Given the description of an element on the screen output the (x, y) to click on. 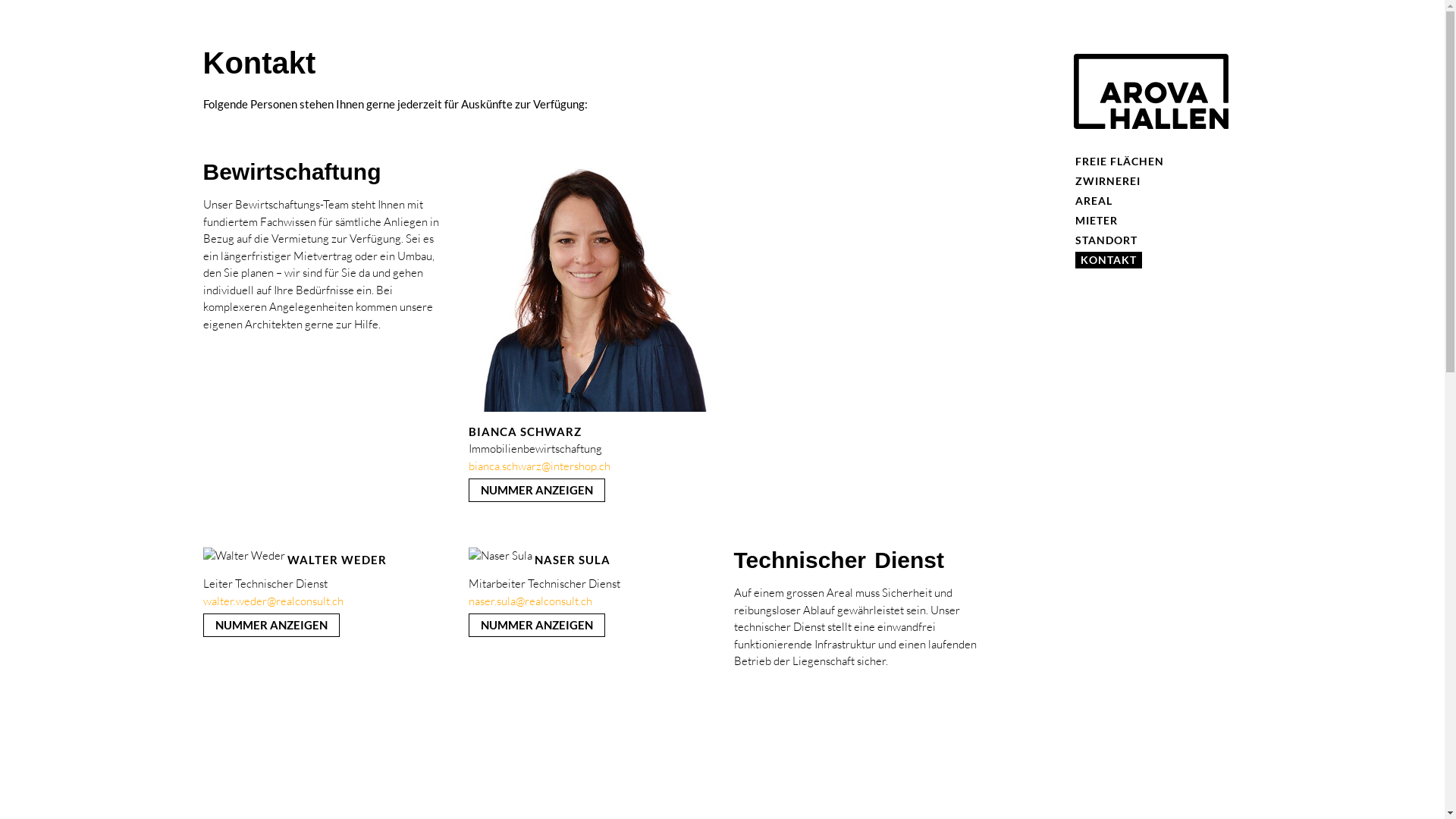
NUMMER ANZEIGEN Element type: text (271, 625)
STANDORT Element type: text (1106, 240)
MIETER Element type: text (1096, 220)
AREAL Element type: text (1093, 200)
bianca.schwarz@intershop.ch Element type: text (539, 465)
NUMMER ANZEIGEN Element type: text (536, 490)
KONTAKT Element type: text (1108, 259)
naser.sula@realconsult.ch Element type: text (530, 600)
ZWIRNEREI Element type: text (1107, 181)
NUMMER ANZEIGEN Element type: text (536, 625)
walter.weder@realconsult.ch Element type: text (273, 600)
